Given the description of an element on the screen output the (x, y) to click on. 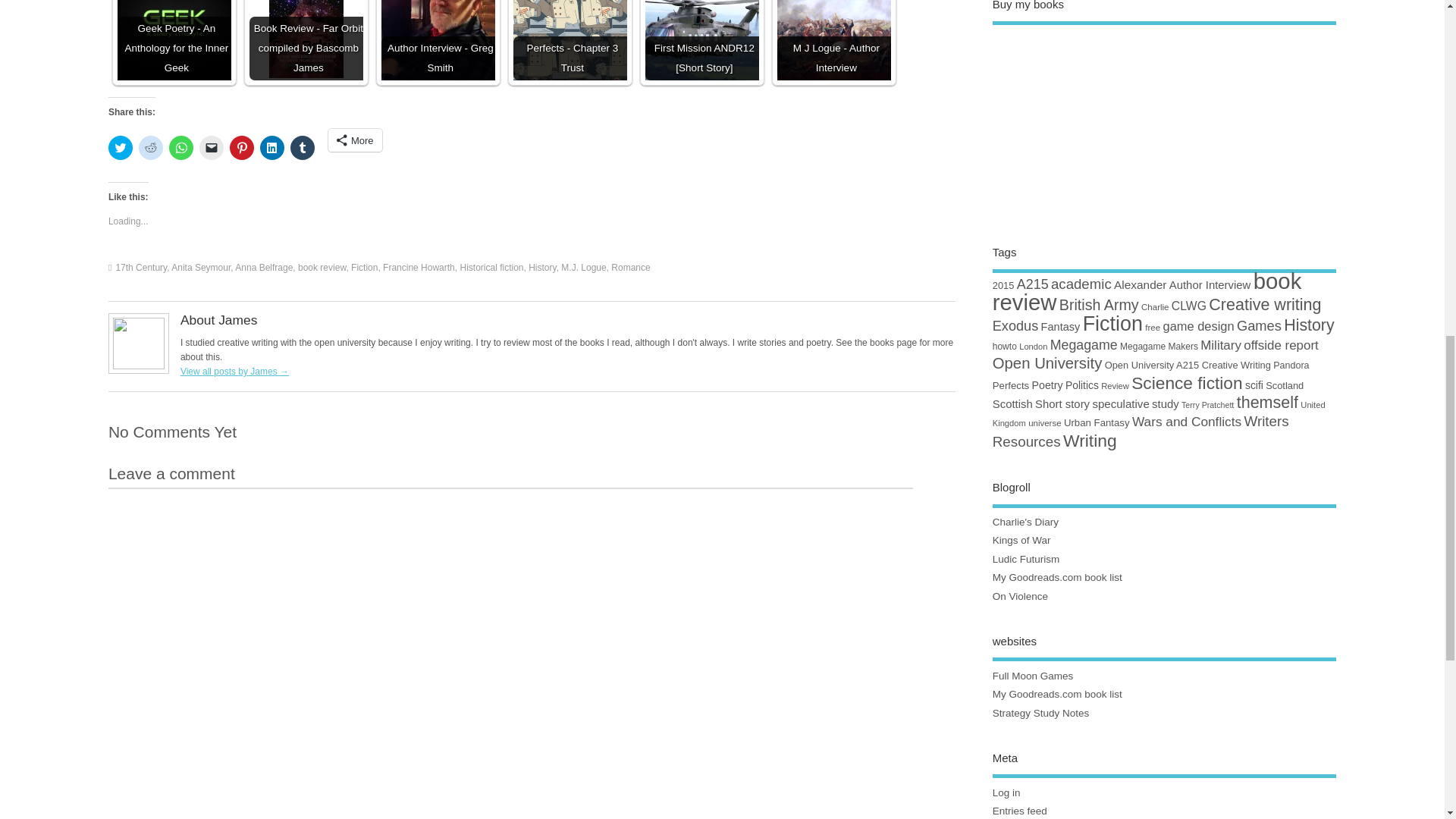
Perfects - Chapter 3 Trust (570, 40)
Click to share on Reddit (150, 147)
Sign me up! (1316, 196)
Email Address (1346, 168)
M J Logue - Author Interview (834, 40)
Author Interview - Greg Smith (438, 40)
Click to share on Twitter (119, 147)
Book Review - Far Orbit compiled by Bascomb James (306, 38)
Click to share on WhatsApp (180, 147)
Click to email a link to a friend (211, 147)
Geek Poetry - An Anthology for the Inner Geek (174, 40)
